Given the description of an element on the screen output the (x, y) to click on. 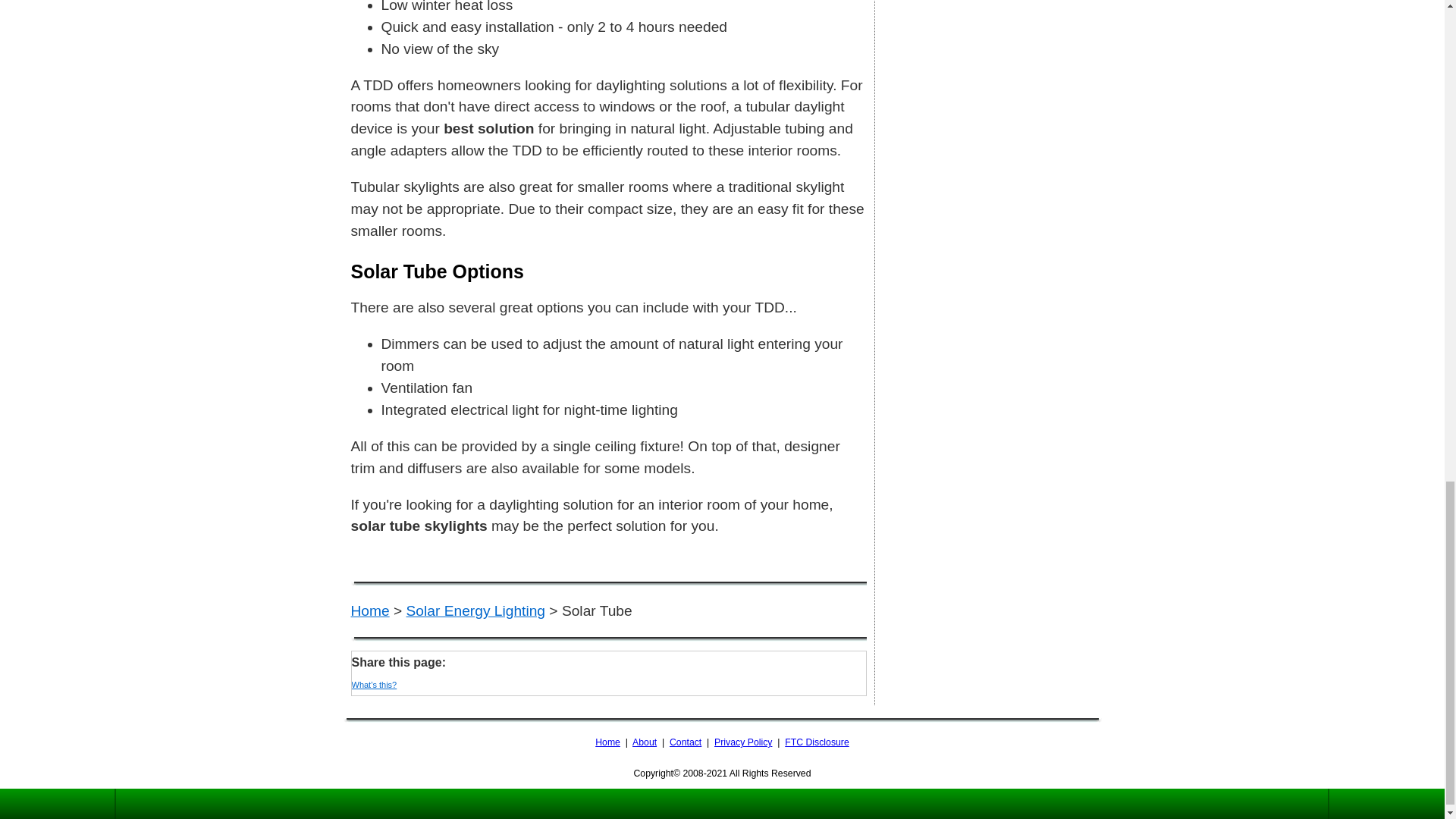
Home (369, 610)
Solar Energy Lighting (475, 610)
